Given the description of an element on the screen output the (x, y) to click on. 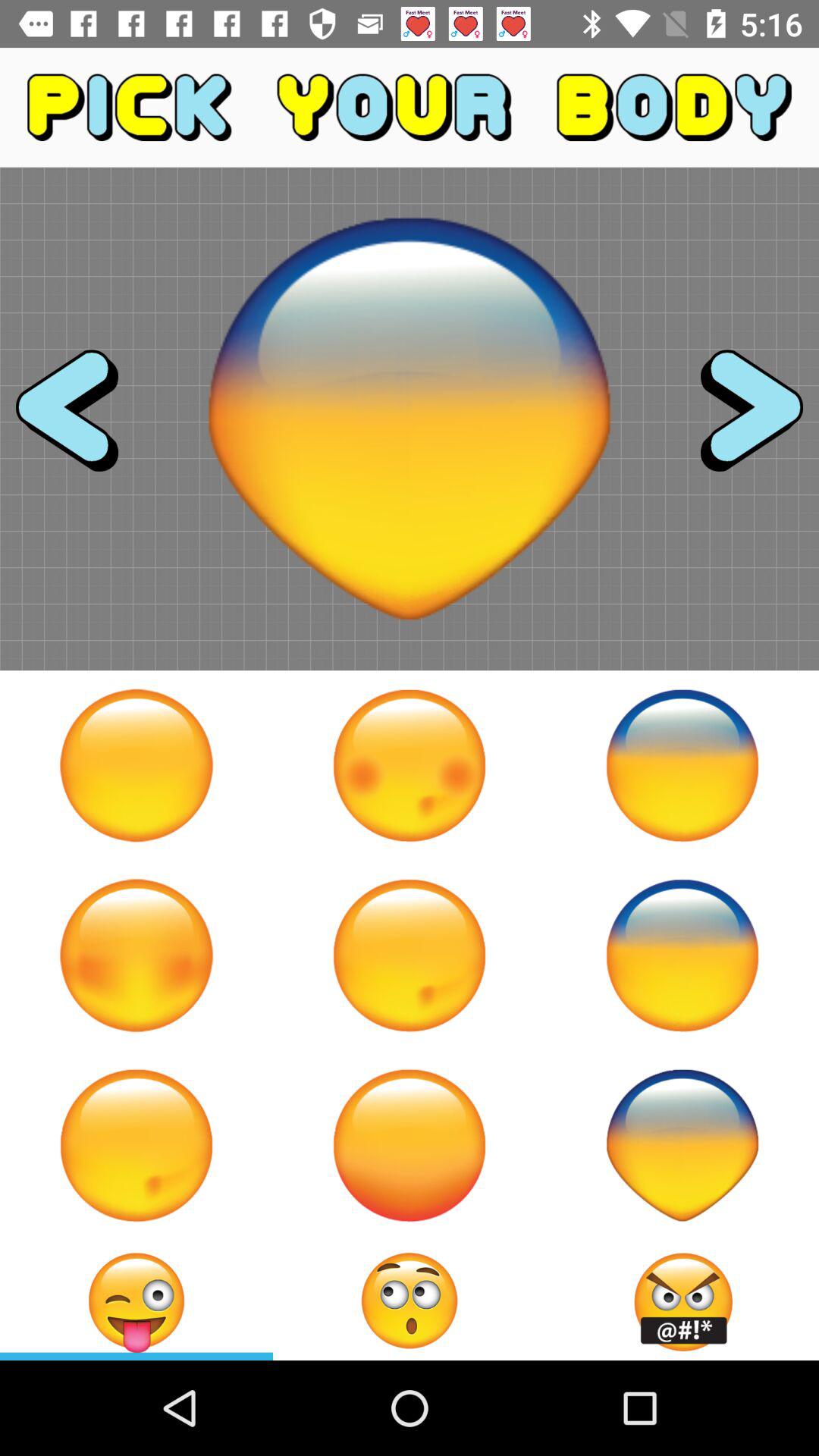
body shape for smiley (136, 1145)
